Given the description of an element on the screen output the (x, y) to click on. 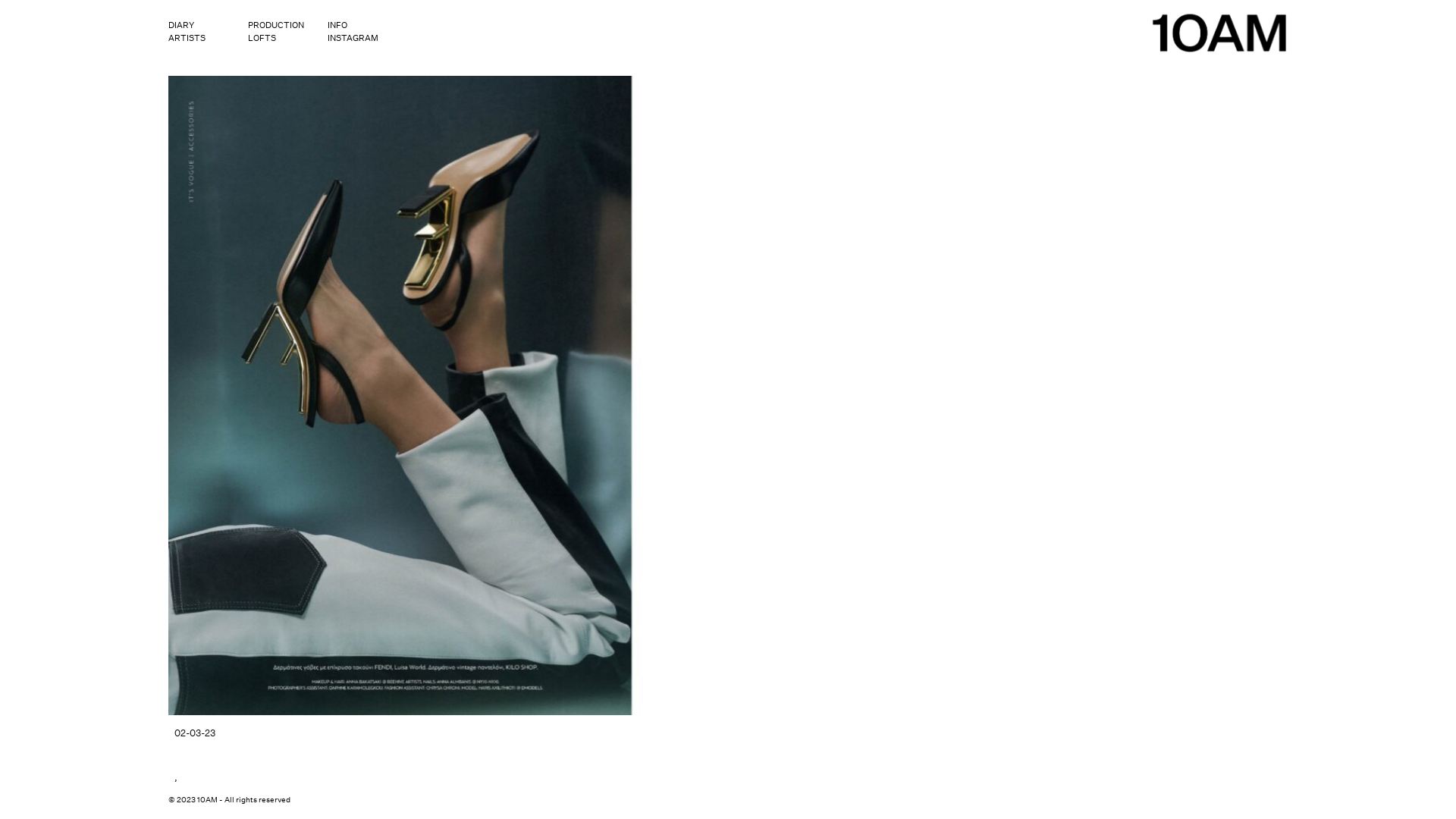
LOFTS Element type: text (275, 38)
PRODUCTION Element type: text (275, 25)
INFO Element type: text (355, 25)
10AM Element type: text (769, 58)
ARTISTS Element type: text (196, 38)
DIARY Element type: text (196, 25)
INSTAGRAM Element type: text (355, 38)
, Element type: text (175, 775)
